Given the description of an element on the screen output the (x, y) to click on. 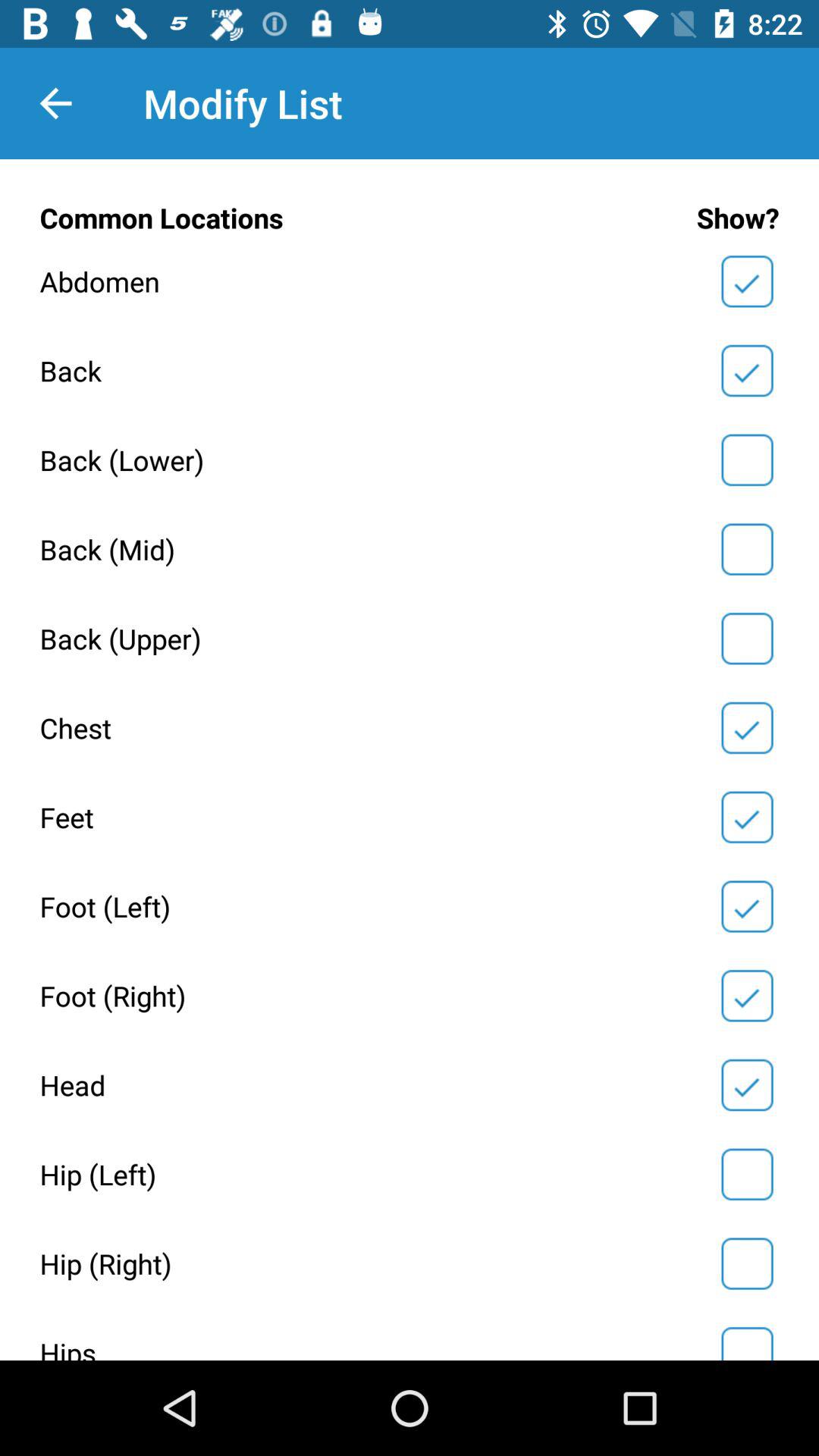
click to show (747, 549)
